Given the description of an element on the screen output the (x, y) to click on. 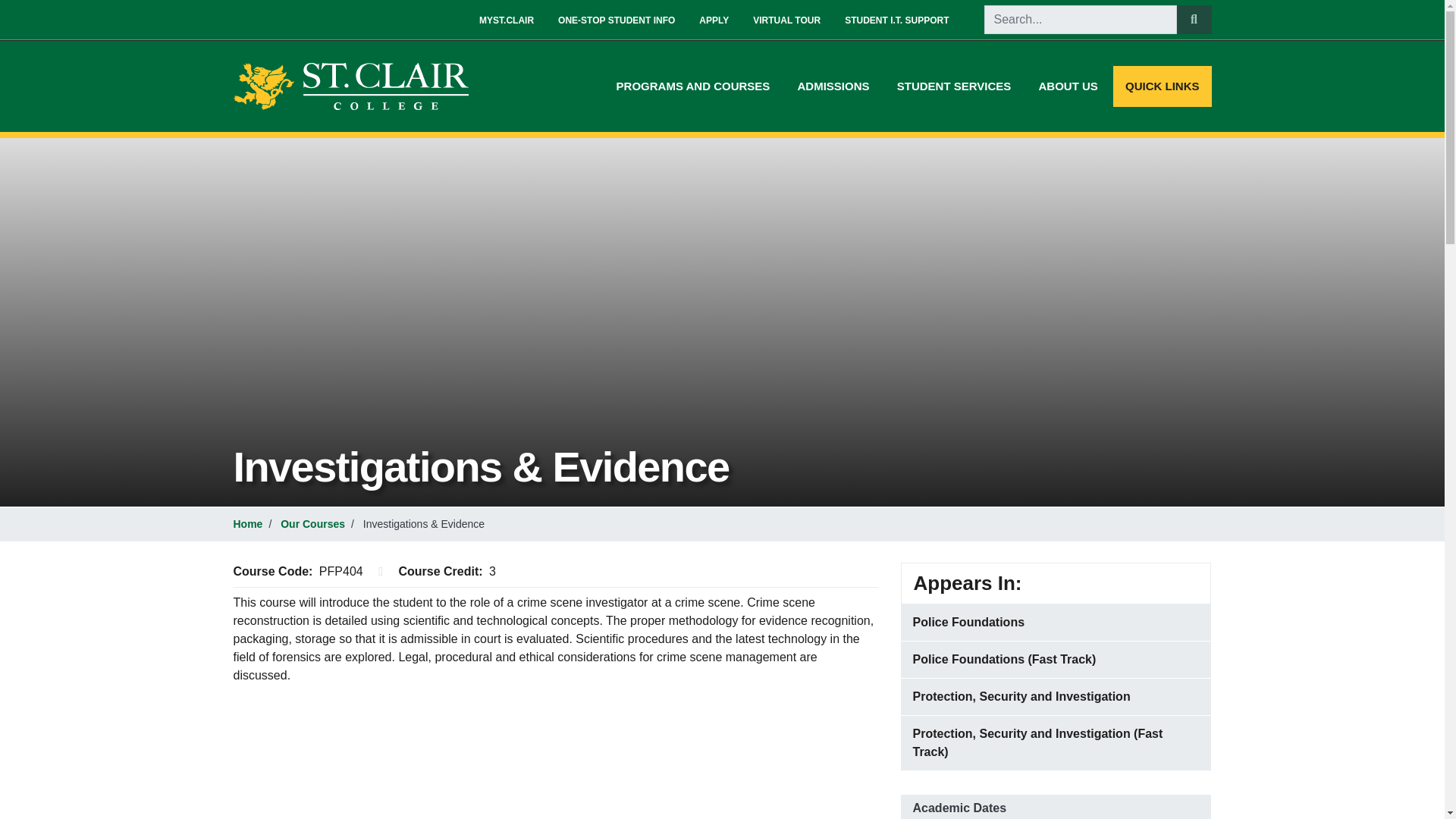
PROGRAMS AND COURSES (693, 86)
ABOUT US (1067, 86)
VIRTUAL TOUR (786, 20)
Home (356, 85)
MYST.CLAIR (506, 20)
Search (1193, 19)
STUDENT SERVICES (954, 86)
APPLY (714, 20)
ADMISSIONS (834, 86)
